Given the description of an element on the screen output the (x, y) to click on. 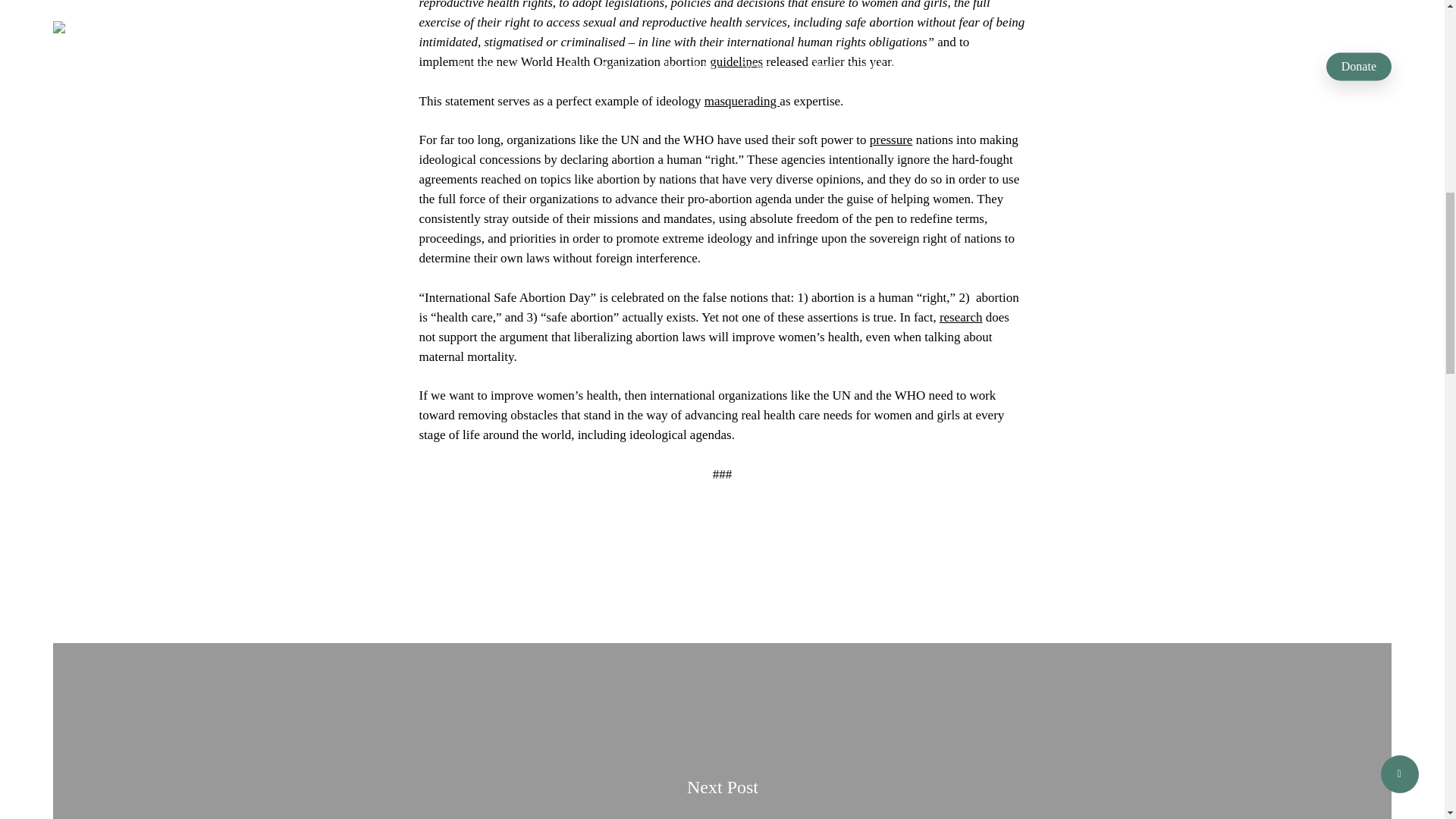
research (960, 316)
guidelines (736, 61)
pressure (890, 139)
masquerading (742, 101)
The International Abortion Battle Is Hiding in Plain Sight (722, 814)
